Given the description of an element on the screen output the (x, y) to click on. 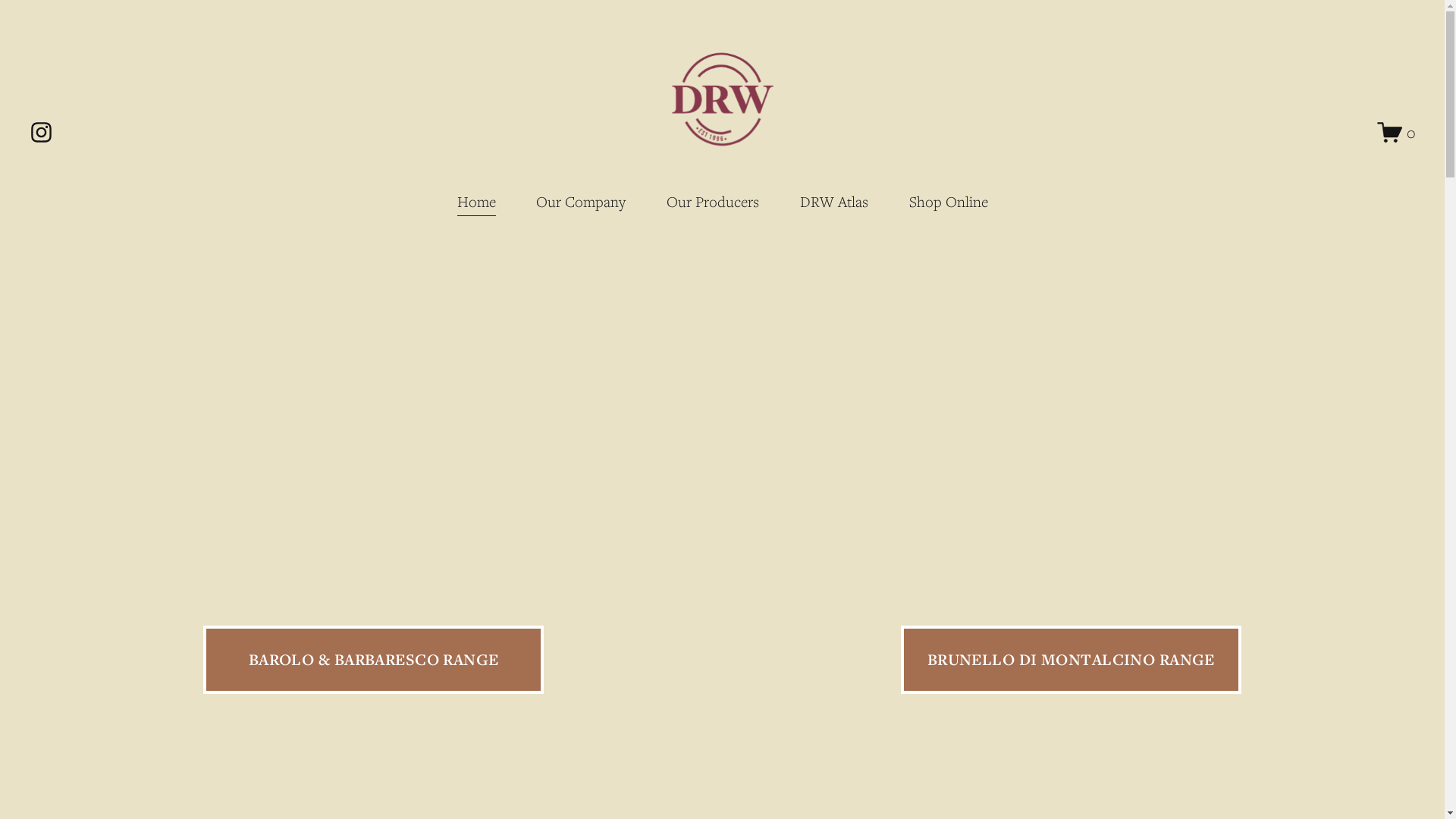
Home Element type: text (475, 200)
DRW Atlas Element type: text (834, 200)
Our Producers Element type: text (712, 200)
0 Element type: text (1396, 131)
BRUNELLO DI MONTALCINO RANGE Element type: text (1070, 659)
Shop Online Element type: text (947, 200)
BAROLO & BARBARESCO RANGE Element type: text (373, 659)
Our Company Element type: text (580, 200)
